Given the description of an element on the screen output the (x, y) to click on. 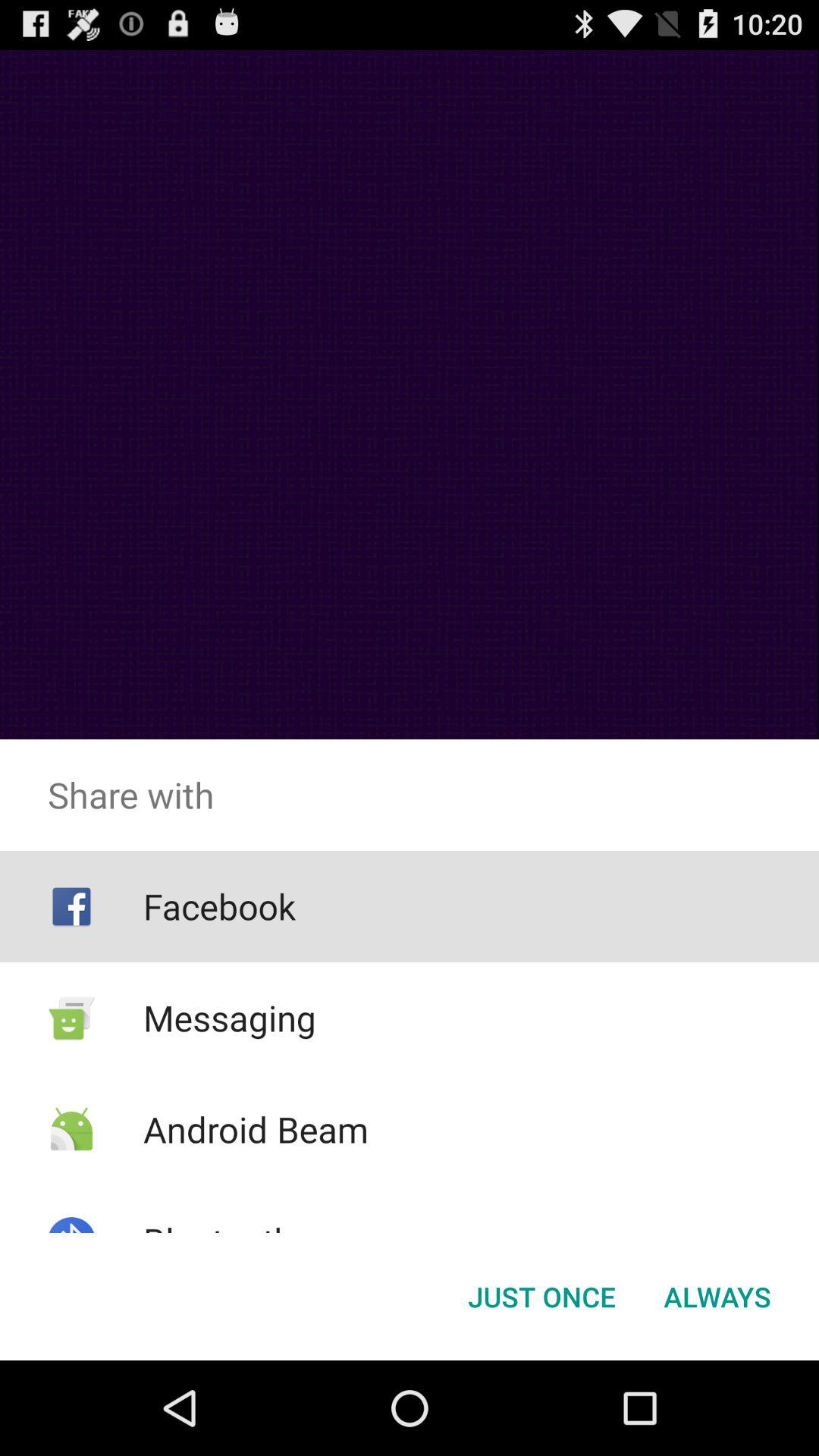
turn on item to the left of the just once item (218, 1240)
